Given the description of an element on the screen output the (x, y) to click on. 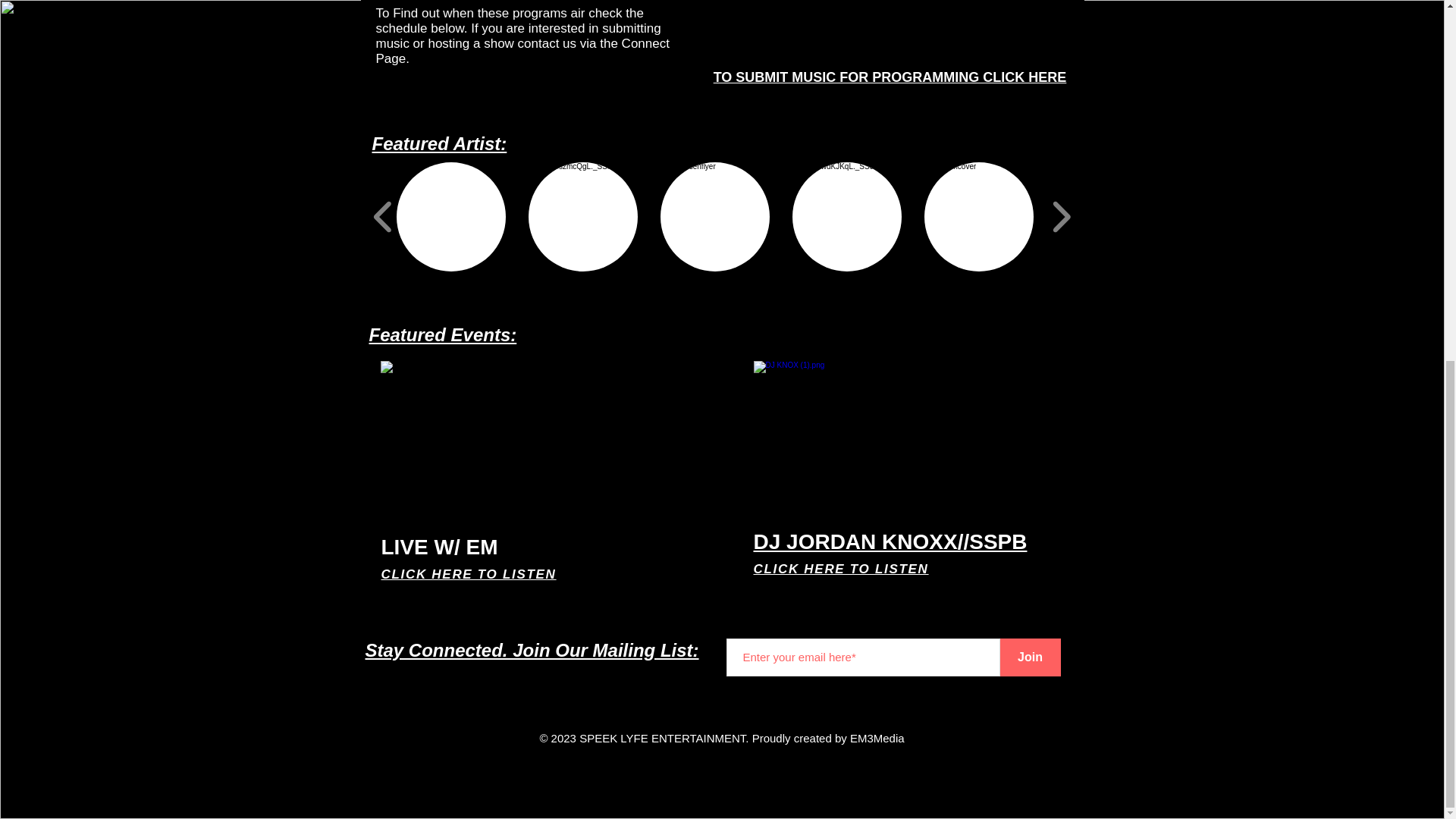
TO SUBMIT MUSIC FOR PROGRAMMING CLICK HERE (890, 77)
Join (1028, 657)
Featured Events: (442, 334)
CLICK HERE TO LISTEN (468, 574)
Stay Connected. Join Our Mailing List: (531, 649)
Featured Artist: (438, 143)
CLICK HERE TO LISTEN (841, 568)
